Given the description of an element on the screen output the (x, y) to click on. 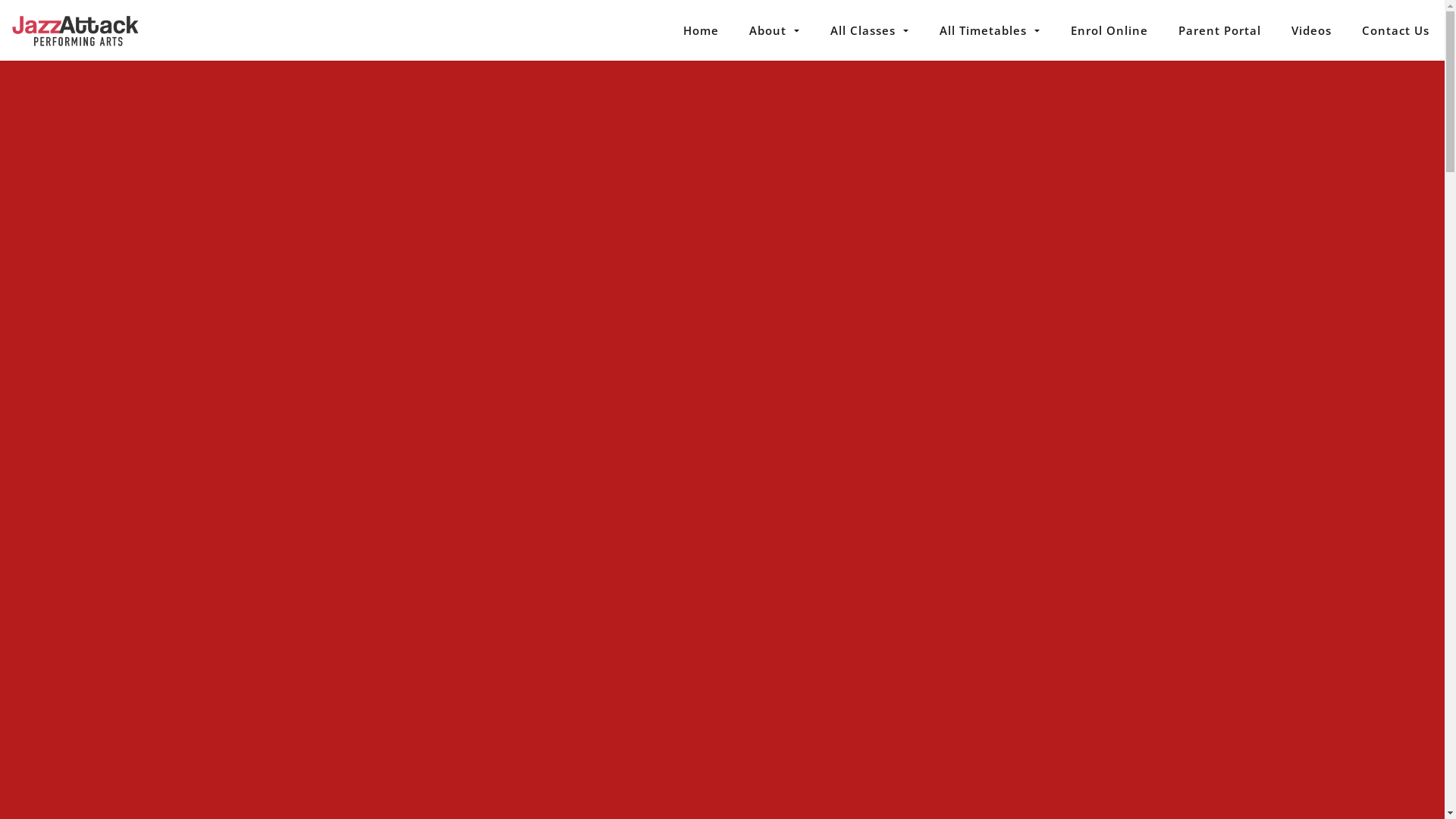
Videos Element type: text (1311, 30)
Enrol Online Element type: text (1109, 30)
All Timetables Element type: text (989, 30)
All Classes Element type: text (869, 30)
Contact Us Element type: text (1395, 30)
Home Element type: text (701, 30)
Parent Portal Element type: text (1219, 30)
About Element type: text (774, 30)
